Given the description of an element on the screen output the (x, y) to click on. 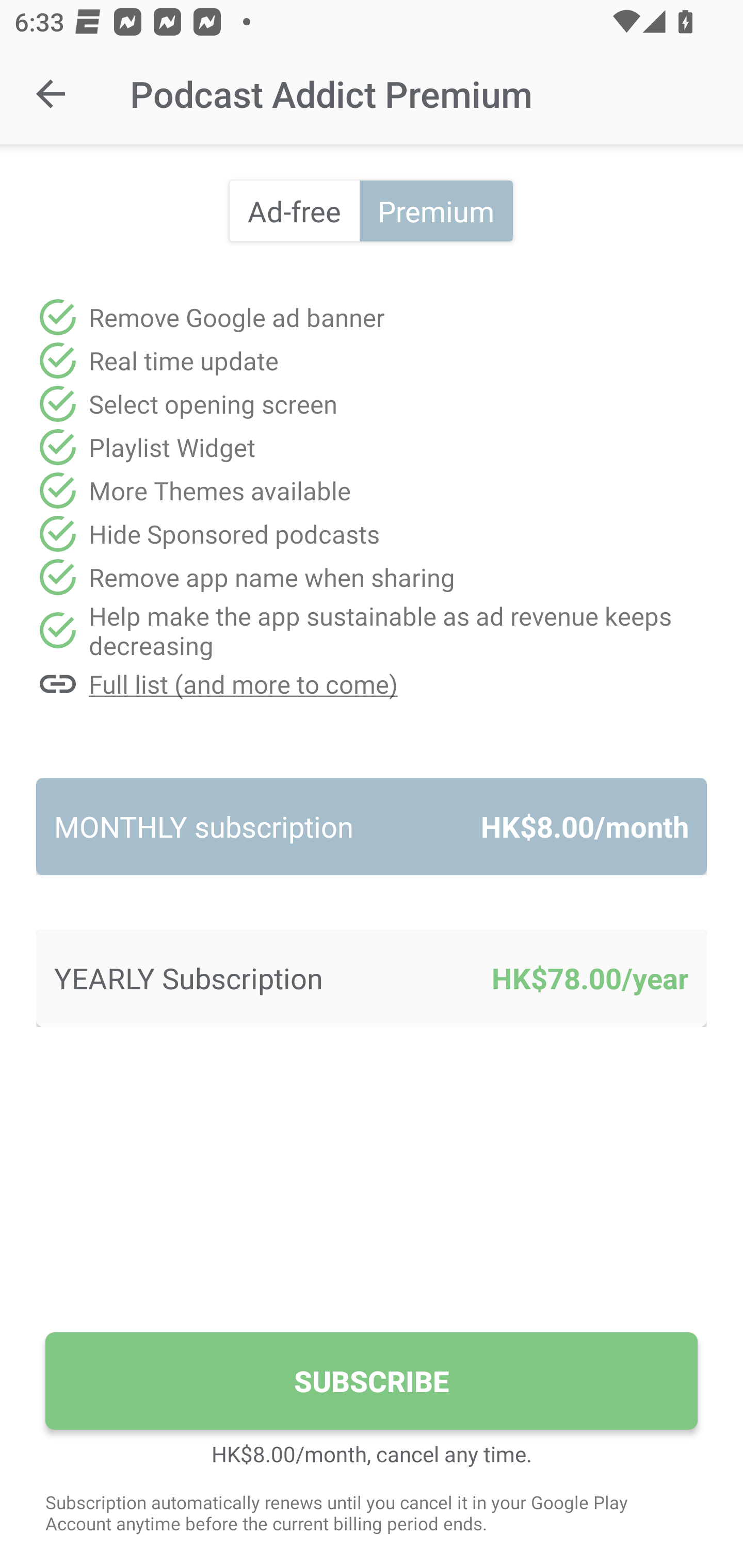
Navigate up (50, 93)
Ad-free (294, 210)
Premium (435, 210)
Full list (and more to come) (371, 683)
MONTHLY subscription HK$8.00/month (371, 825)
YEARLY Subscription HK$78.00/year (371, 978)
SUBSCRIBE (371, 1381)
